Given the description of an element on the screen output the (x, y) to click on. 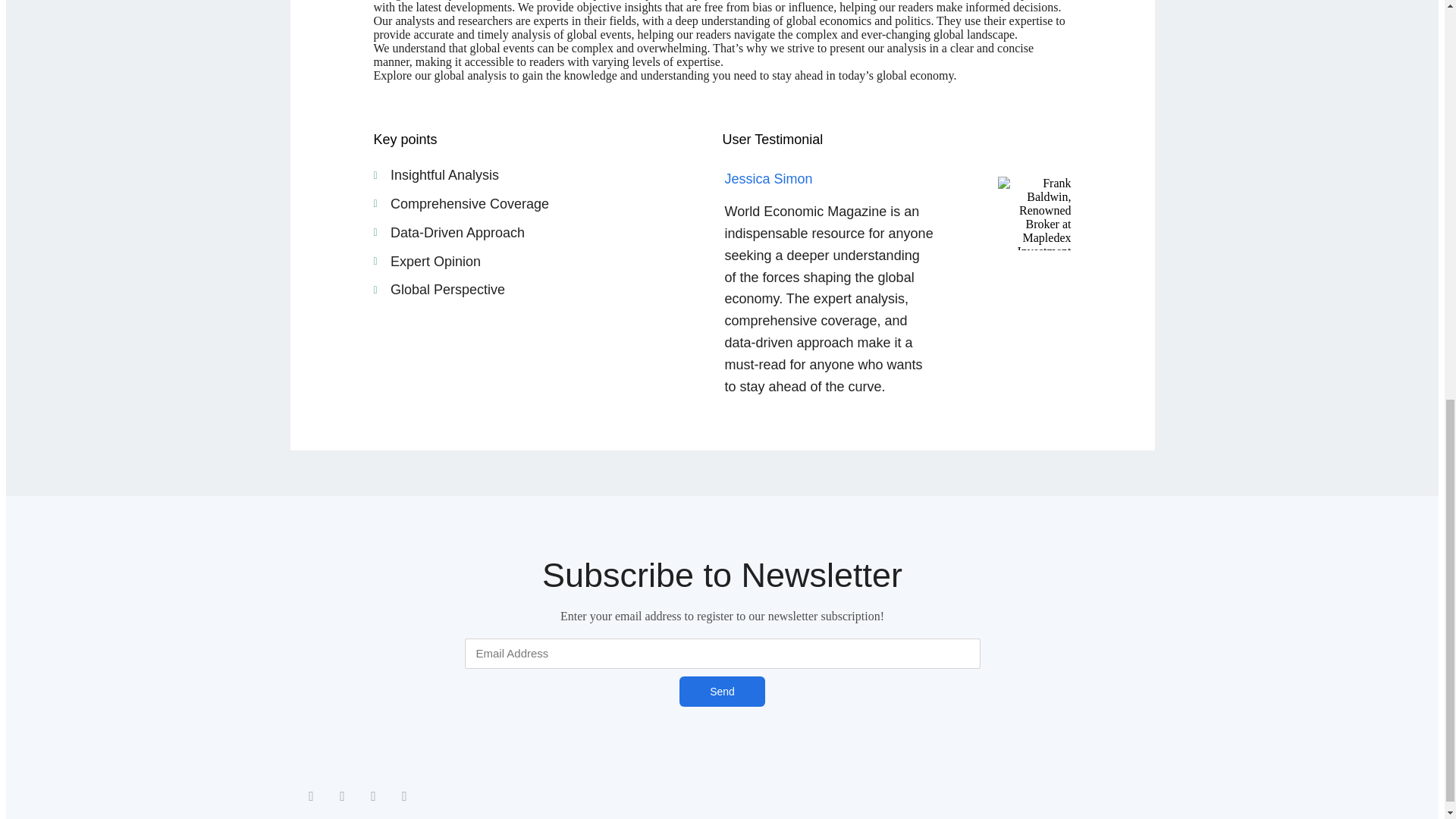
Send (722, 691)
